Given the description of an element on the screen output the (x, y) to click on. 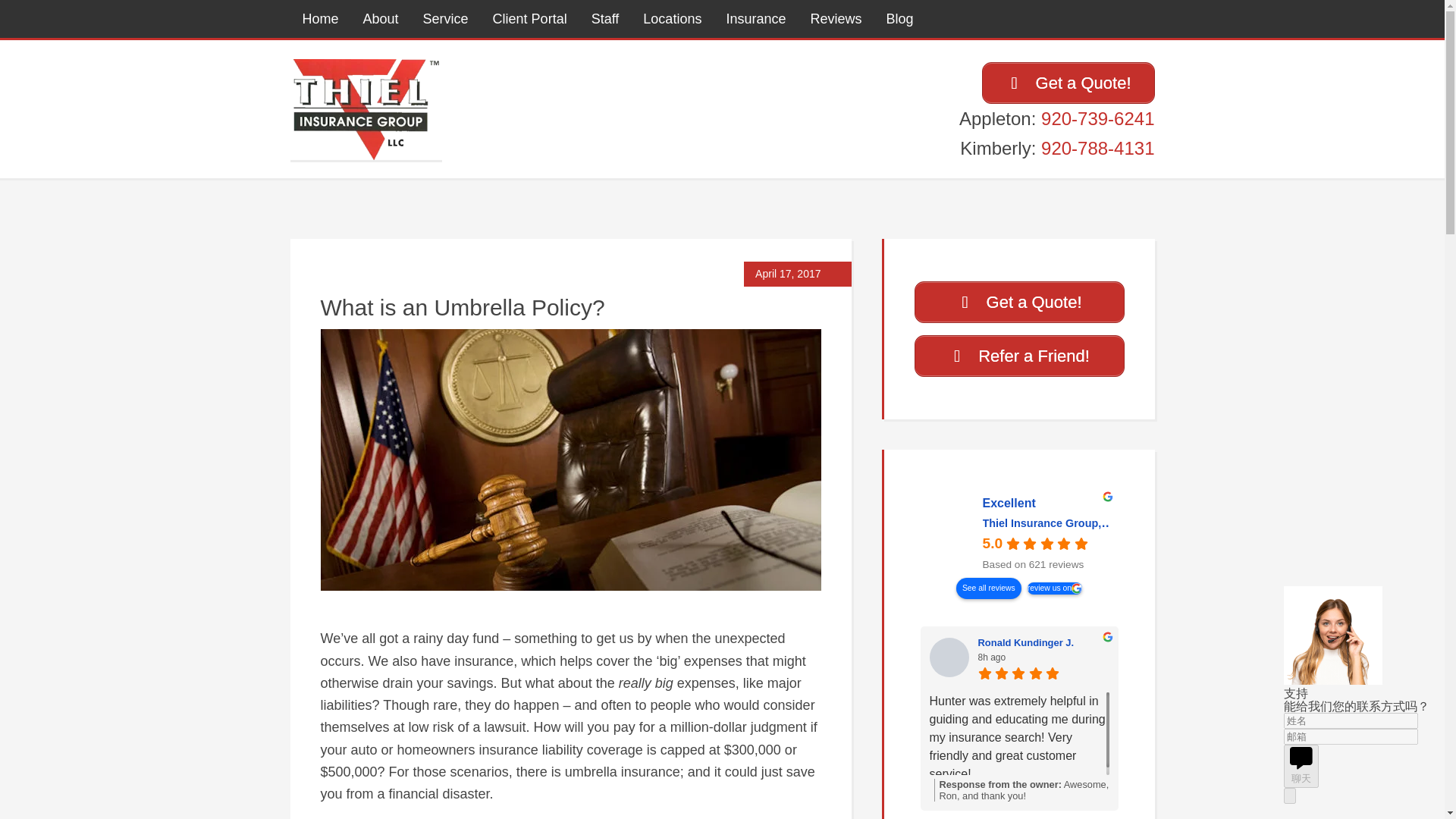
920-739-6241 (1097, 118)
Ronald Kundinger J. (1043, 642)
Teresa H. (1164, 657)
Response from the owner: Awesome, Ron, and thank you! (1021, 789)
Teresa H. (1258, 642)
Blog (898, 18)
Thiel Insurance Group, LLC (954, 532)
Staff (605, 18)
Insurance (755, 18)
920-788-4131 (1097, 148)
Service (445, 18)
Client Portal (529, 18)
Get a Quote! (1019, 301)
